Given the description of an element on the screen output the (x, y) to click on. 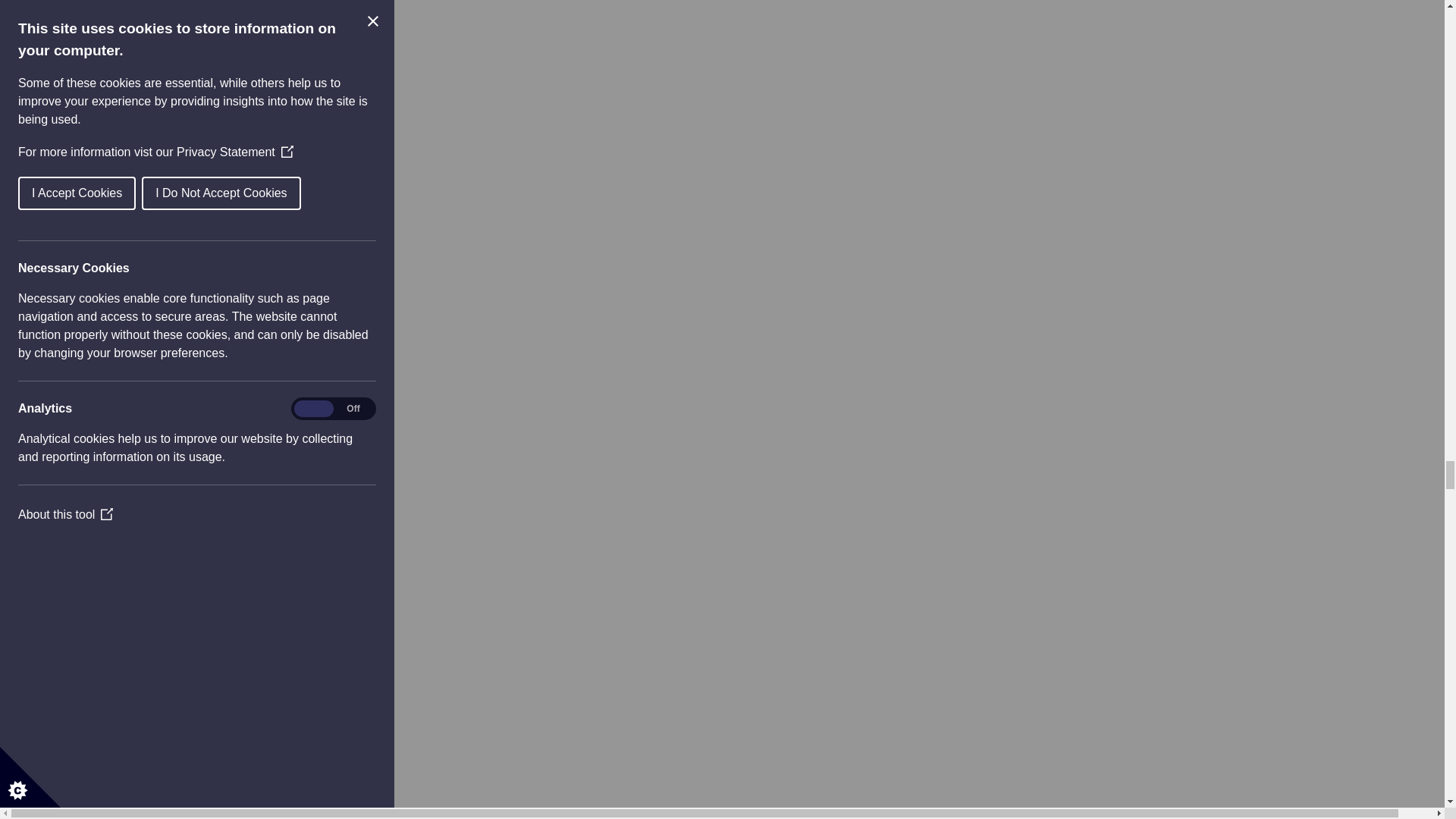
01 (92, 18)
01 (92, 619)
